Given the description of an element on the screen output the (x, y) to click on. 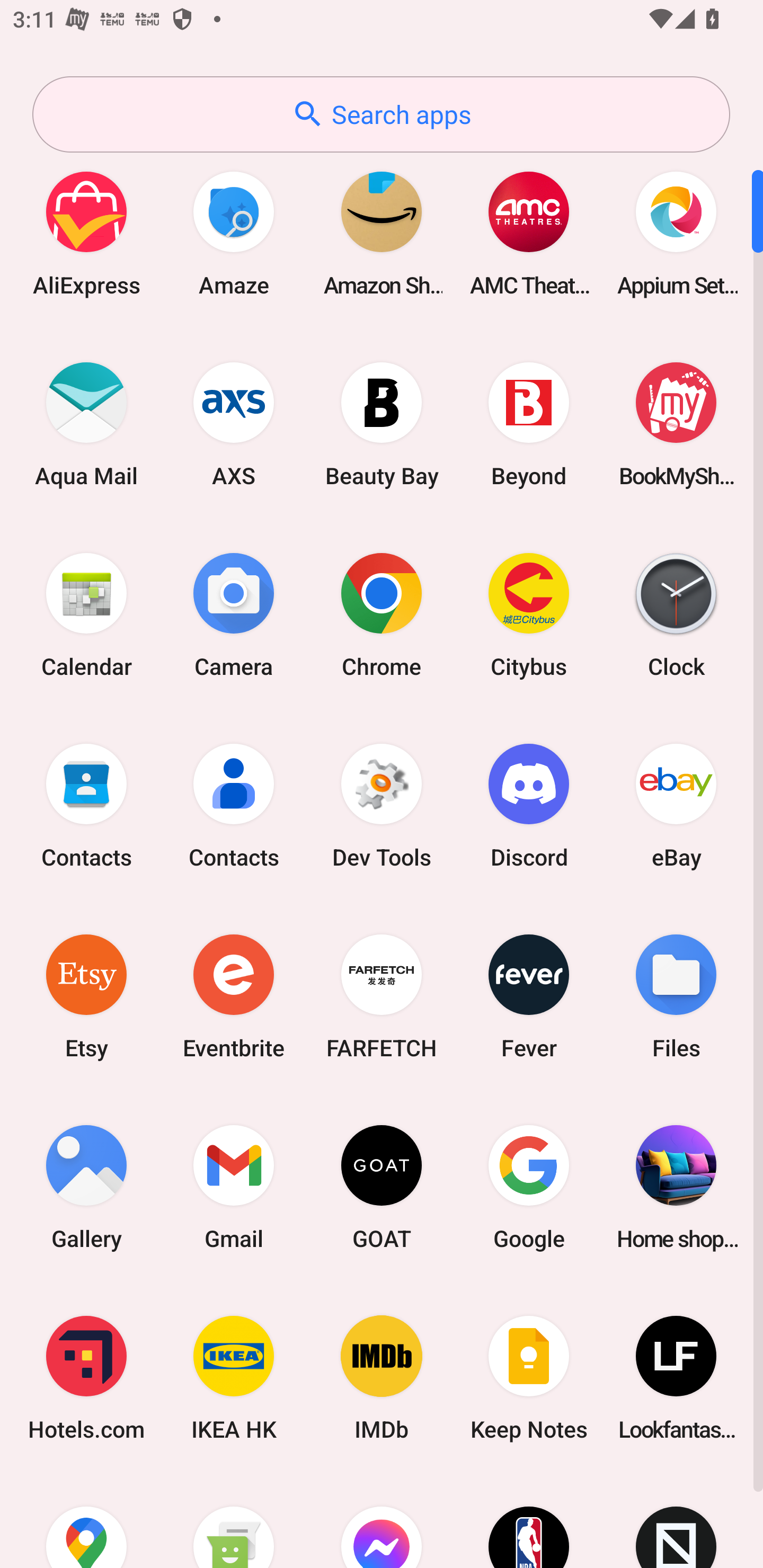
  Search apps (381, 114)
AliExpress (86, 233)
Amaze (233, 233)
Amazon Shopping (381, 233)
AMC Theatres (528, 233)
Appium Settings (676, 233)
Aqua Mail (86, 424)
AXS (233, 424)
Beauty Bay (381, 424)
Beyond (528, 424)
BookMyShow (676, 424)
Calendar (86, 614)
Camera (233, 614)
Chrome (381, 614)
Citybus (528, 614)
Clock (676, 614)
Contacts (86, 805)
Contacts (233, 805)
Dev Tools (381, 805)
Discord (528, 805)
eBay (676, 805)
Etsy (86, 996)
Eventbrite (233, 996)
FARFETCH (381, 996)
Fever (528, 996)
Files (676, 996)
Gallery (86, 1186)
Gmail (233, 1186)
GOAT (381, 1186)
Google (528, 1186)
Home shopping (676, 1186)
Hotels.com (86, 1377)
IKEA HK (233, 1377)
IMDb (381, 1377)
Keep Notes (528, 1377)
Lookfantastic (676, 1377)
